Given the description of an element on the screen output the (x, y) to click on. 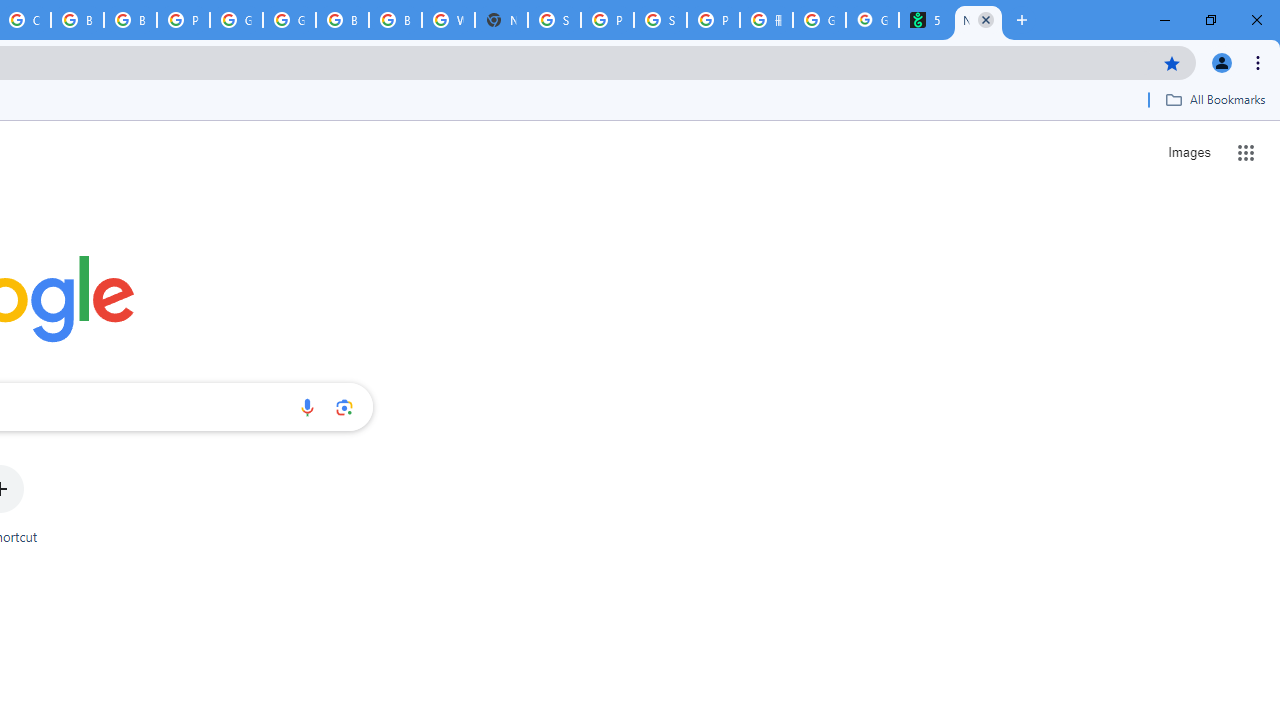
Sign in - Google Accounts (554, 20)
Browse Chrome as a guest - Computer - Google Chrome Help (130, 20)
All Bookmarks (1215, 99)
Browse Chrome as a guest - Computer - Google Chrome Help (395, 20)
